Given the description of an element on the screen output the (x, y) to click on. 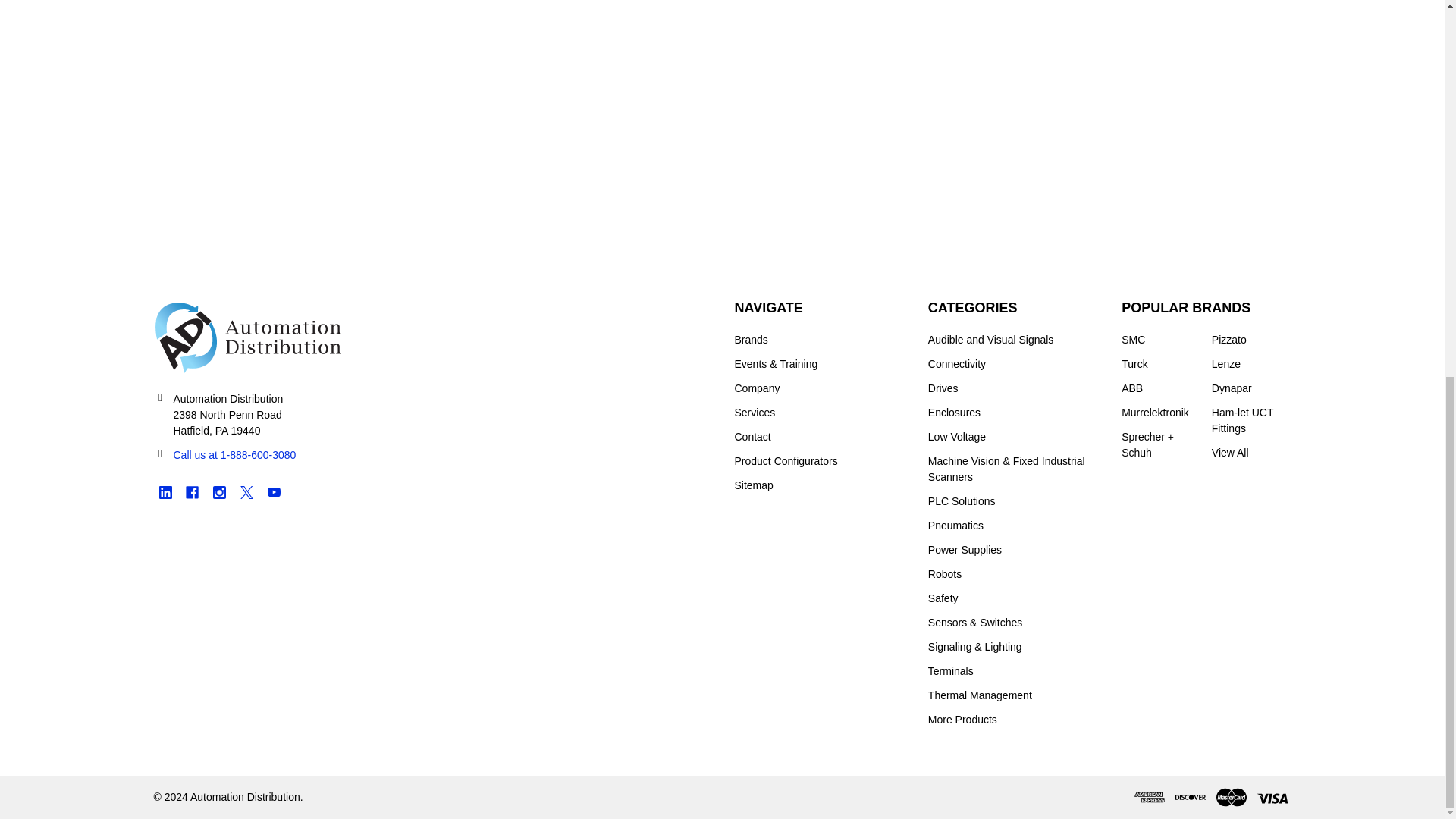
Linkedin (164, 492)
Youtube (273, 492)
Instagram (219, 492)
X (246, 492)
Automation Distribution (247, 337)
Facebook (191, 492)
